Given the description of an element on the screen output the (x, y) to click on. 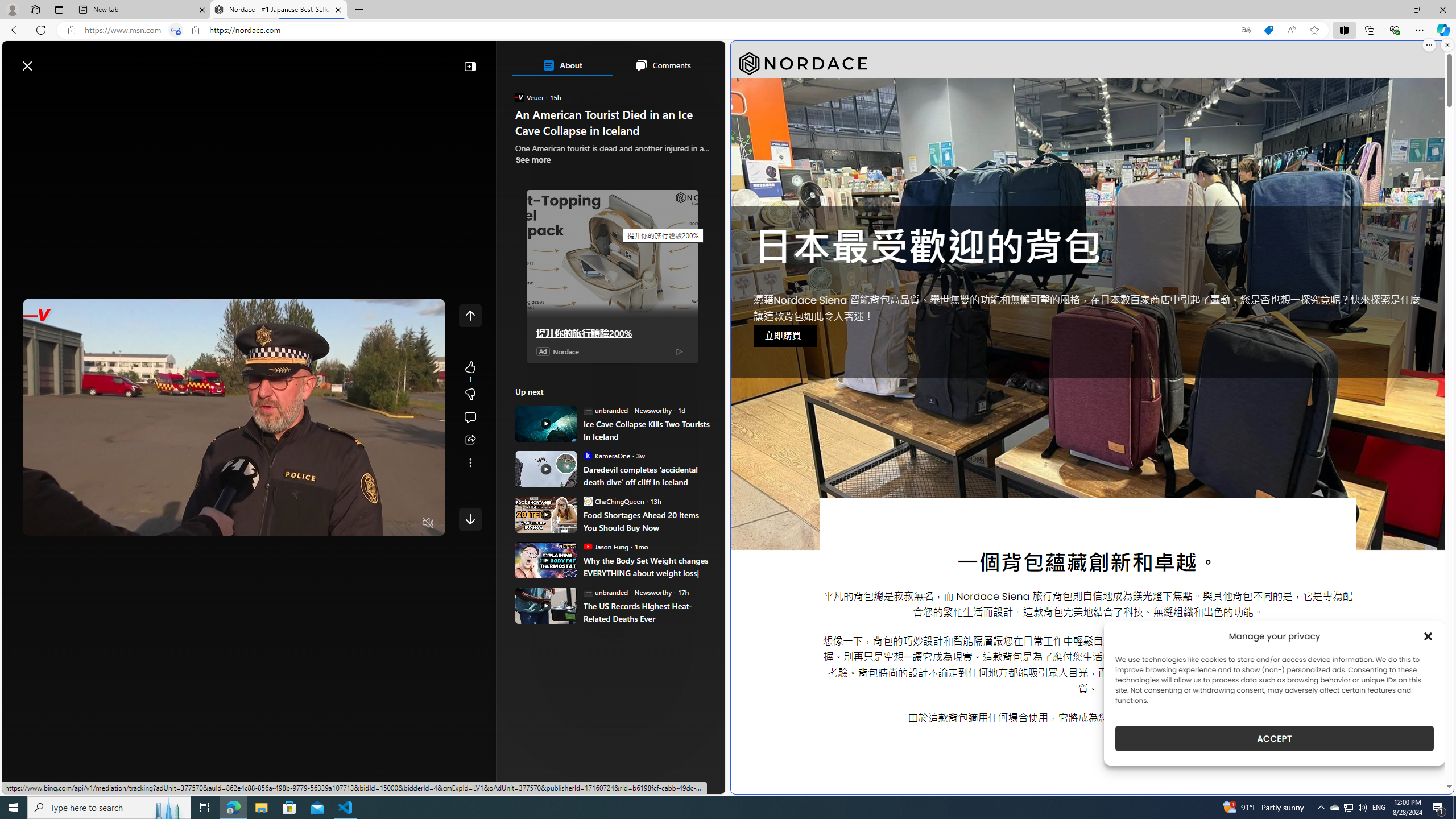
ABC News (554, 415)
KameraOne KameraOne (606, 455)
Ad (542, 351)
Ice Cave Collapse Kills Two Tourists In Iceland (646, 430)
Personalize (679, 92)
The Associated Press (554, 366)
Watch (141, 92)
Ice Cave Collapse Kills Two Tourists In Iceland (545, 423)
The US Records Highest Heat-Related Deaths Ever (646, 611)
1 Like (469, 371)
ChaChingQueen ChaChingQueen (613, 500)
Watch (145, 92)
Address and search bar (658, 29)
